Given the description of an element on the screen output the (x, y) to click on. 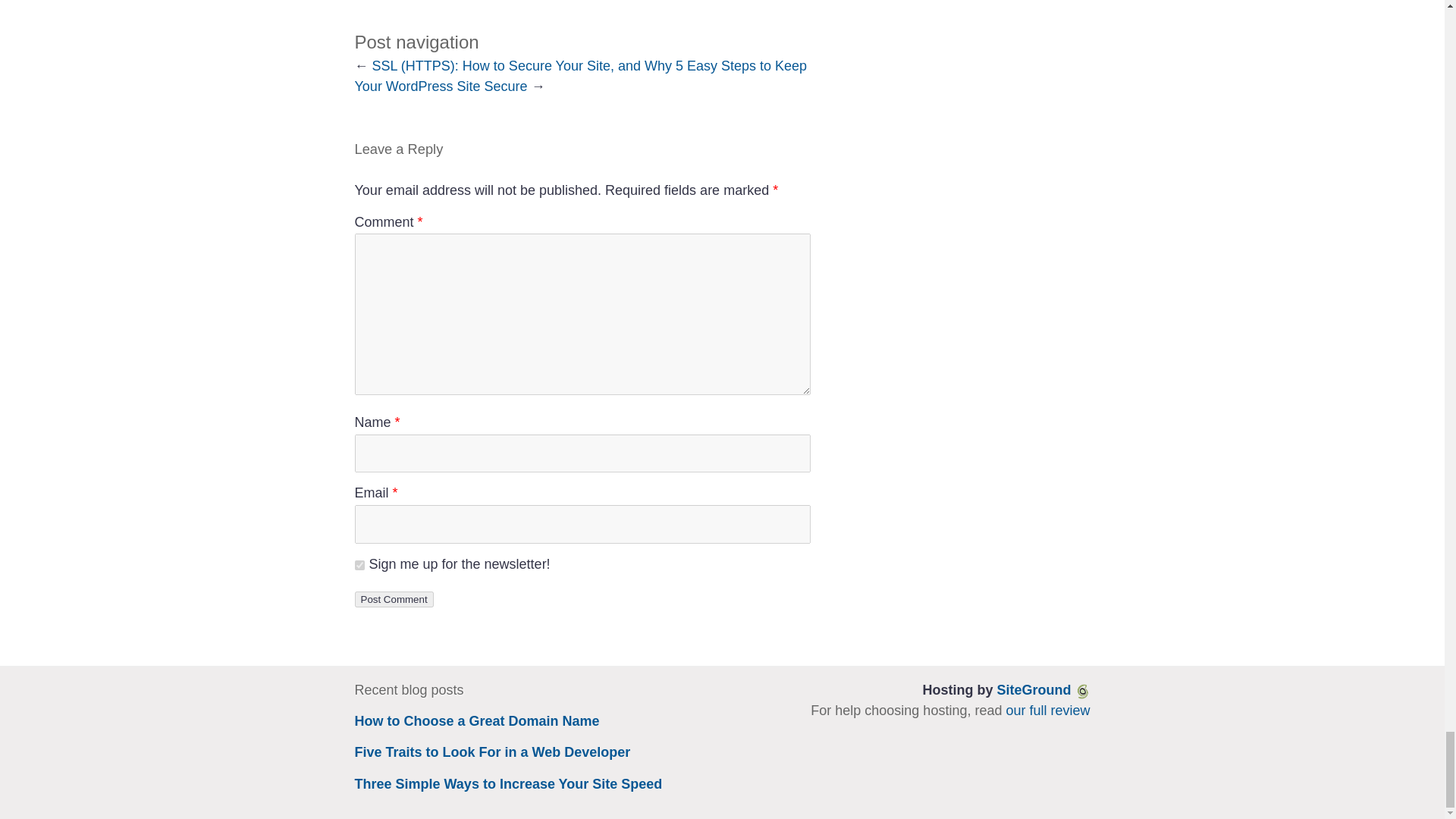
Five Traits to Look For in a Web Developer (492, 752)
Post Comment (394, 599)
How to Choose a Great Domain Name (477, 720)
Post Comment (394, 599)
1 (360, 565)
